Given the description of an element on the screen output the (x, y) to click on. 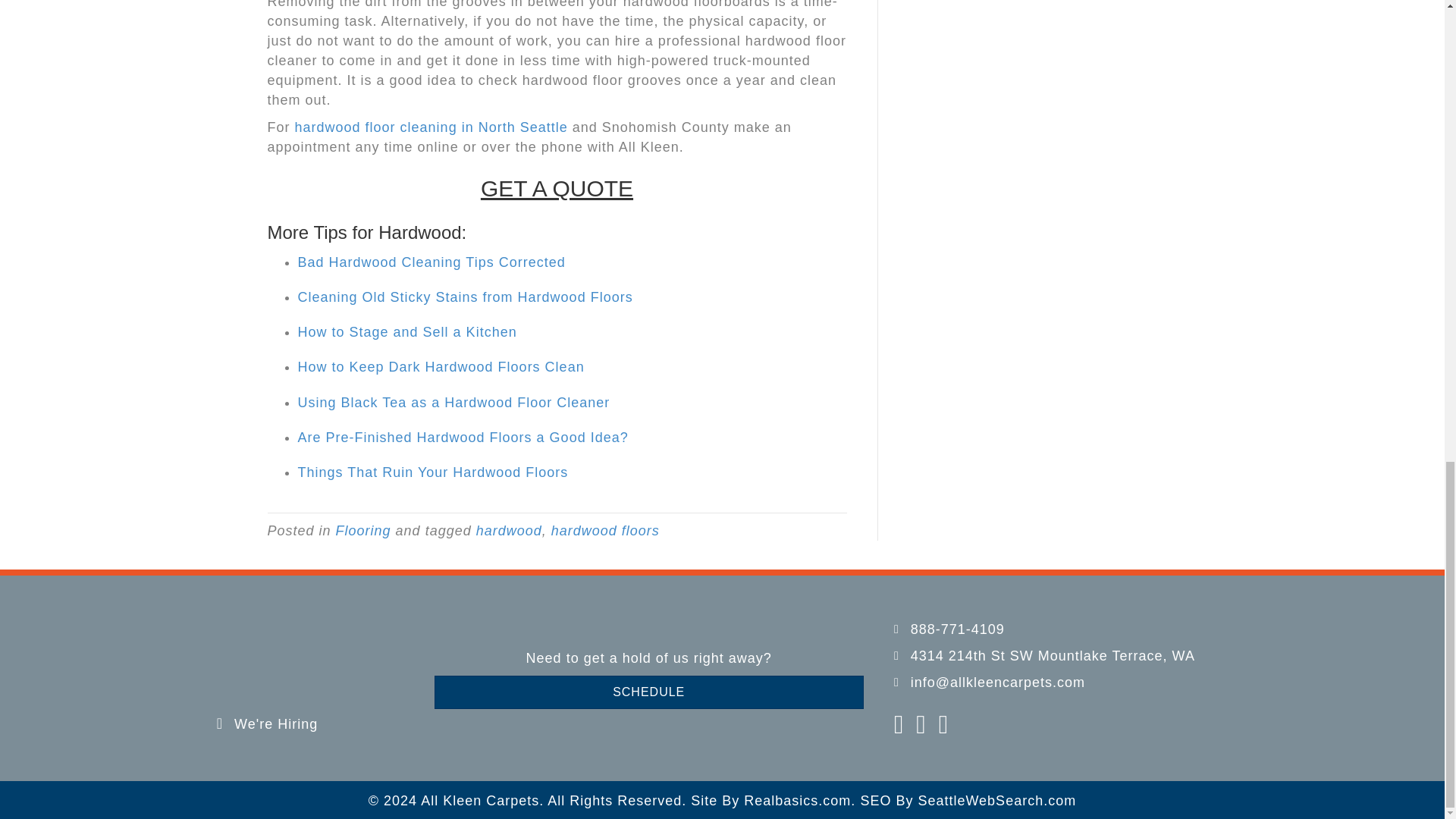
GET A QUOTE (556, 188)
How to Stage and Sell a Kitchen (406, 331)
Flooring (363, 530)
Are Pre-Finished Hardwood Floors a Good Idea? (462, 437)
How to Keep Dark Hardwood Floors Clean (440, 366)
Using Black Tea as a Hardwood Floor Cleaner (453, 401)
Bad Hardwood Cleaning Tips Corrected (430, 262)
Things That Ruin Your Hardwood Floors (432, 472)
hardwood floor cleaning in North Seattle (431, 127)
Cleaning Old Sticky Stains from Hardwood Floors (464, 296)
hardwood floors (605, 530)
hardwood (508, 530)
